Given the description of an element on the screen output the (x, y) to click on. 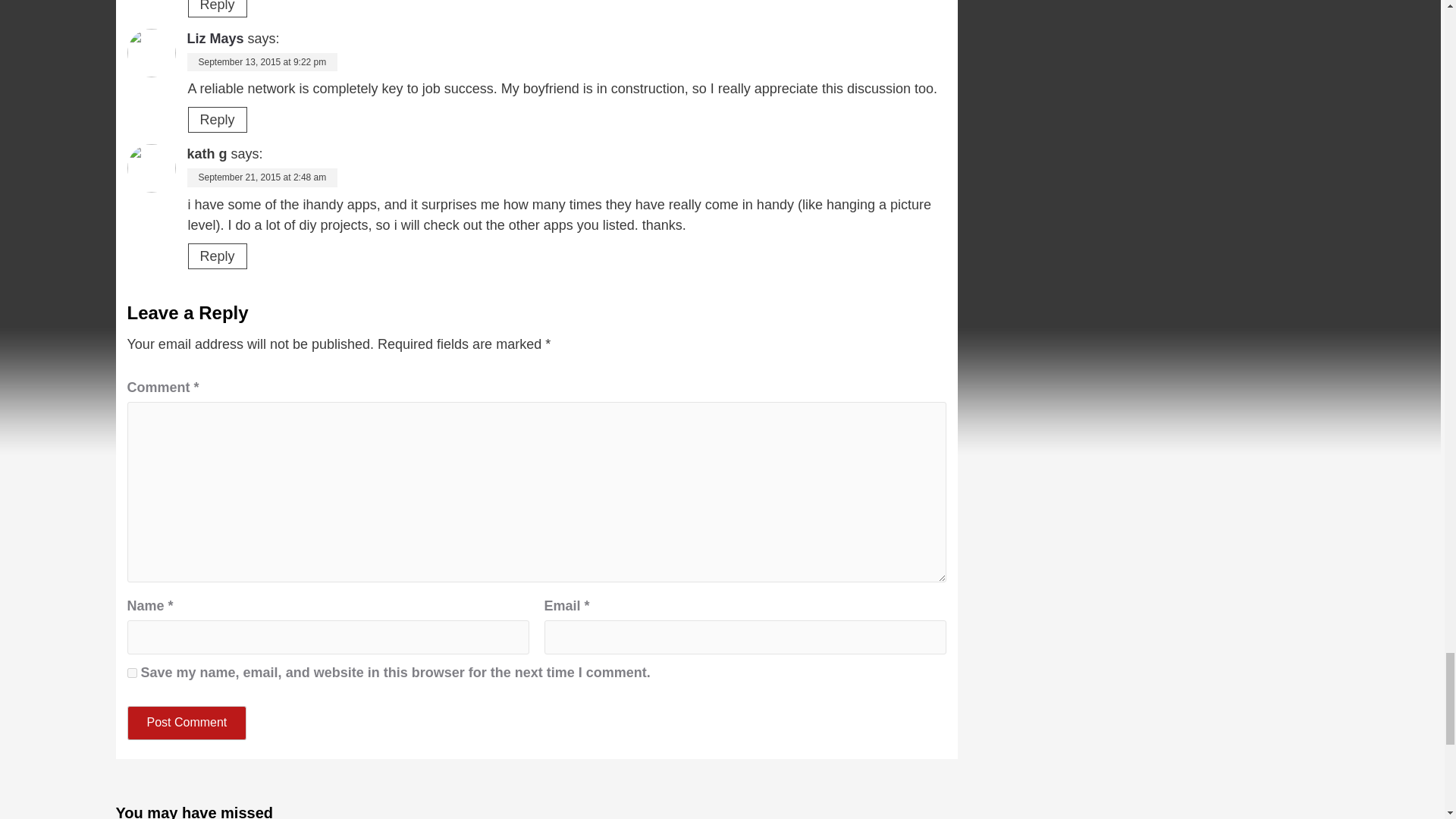
Post Comment (187, 722)
yes (132, 673)
